Given the description of an element on the screen output the (x, y) to click on. 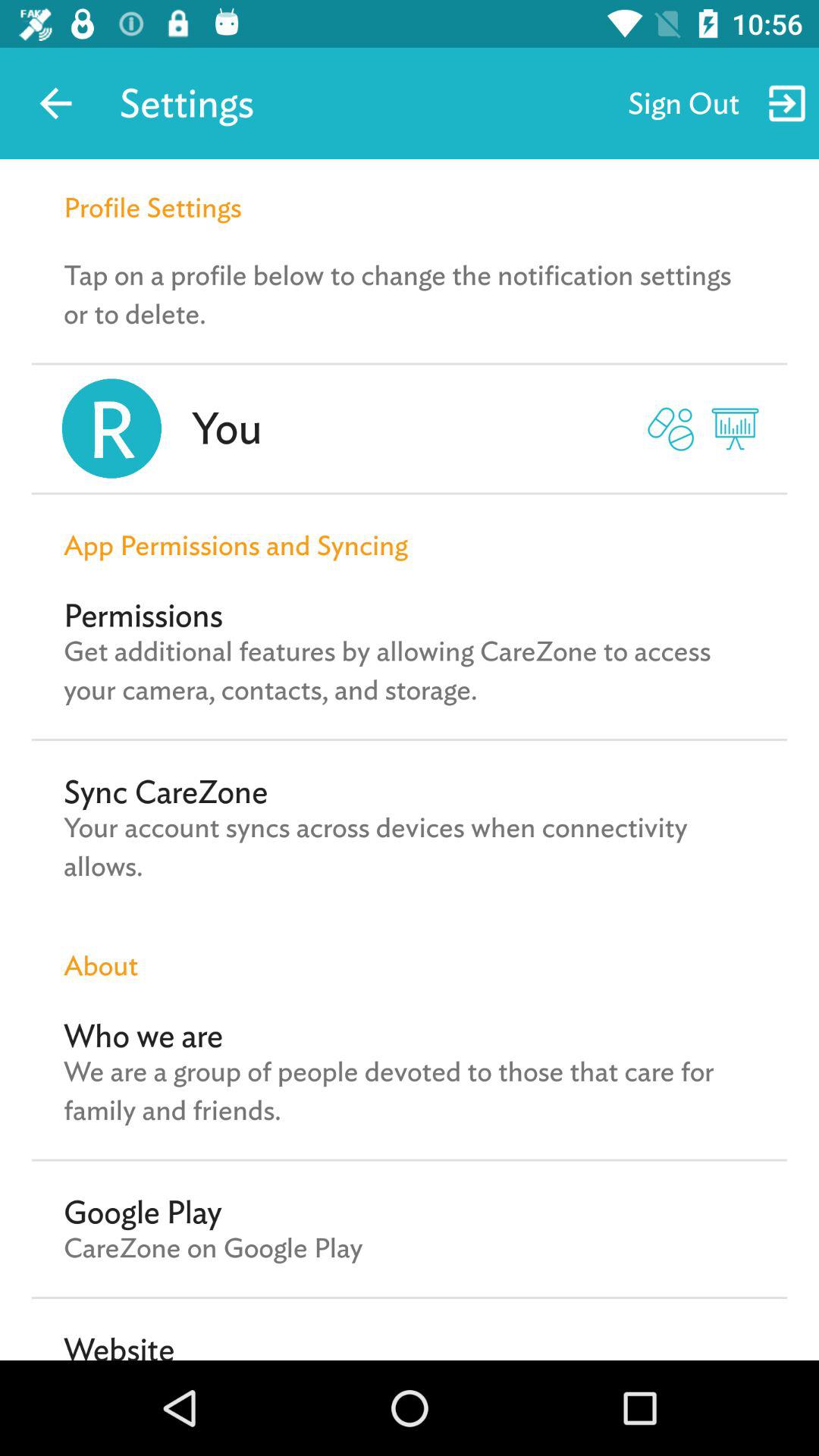
tap the item above profile settings (55, 103)
